Given the description of an element on the screen output the (x, y) to click on. 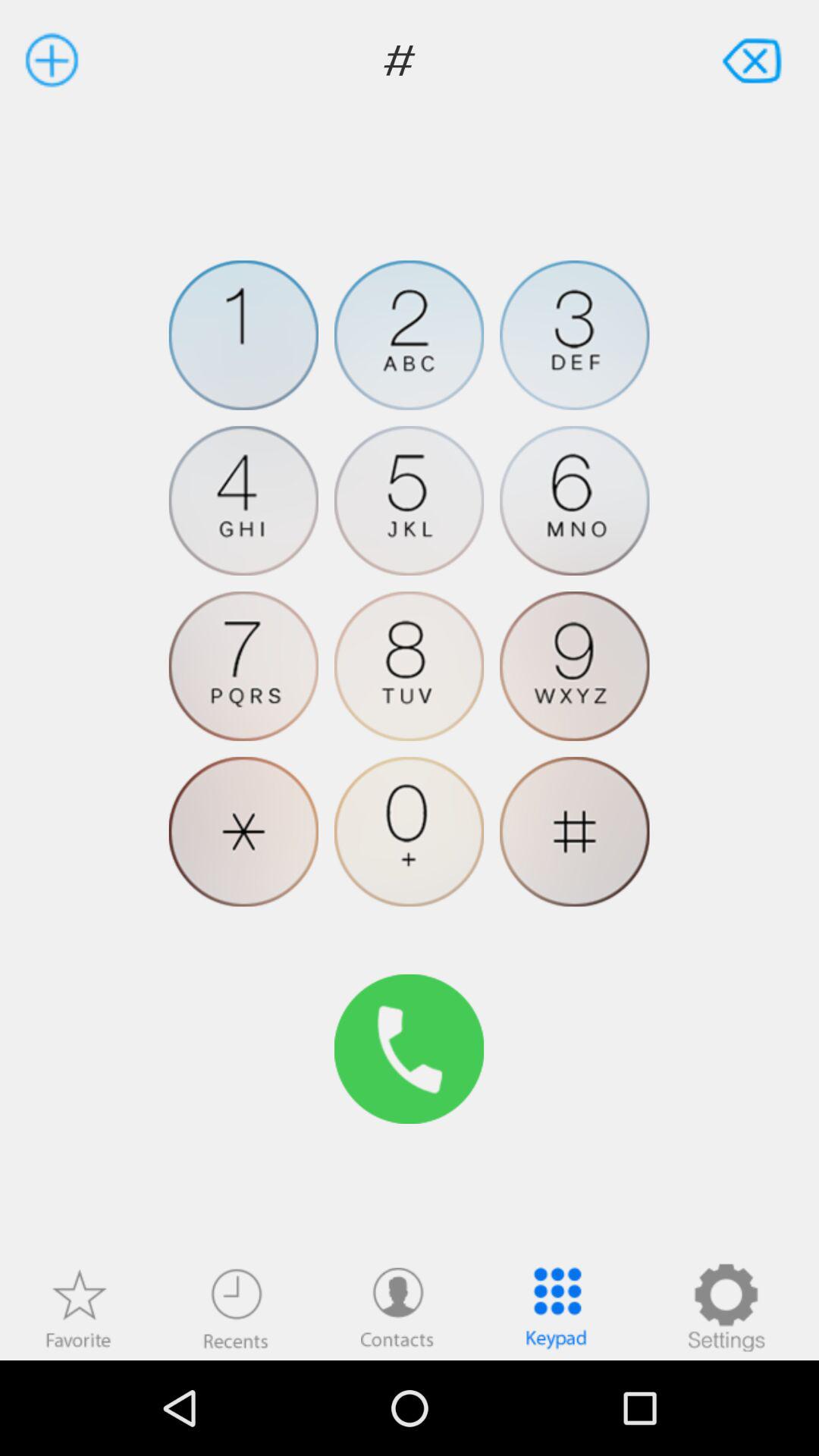
press 1 (243, 335)
